Given the description of an element on the screen output the (x, y) to click on. 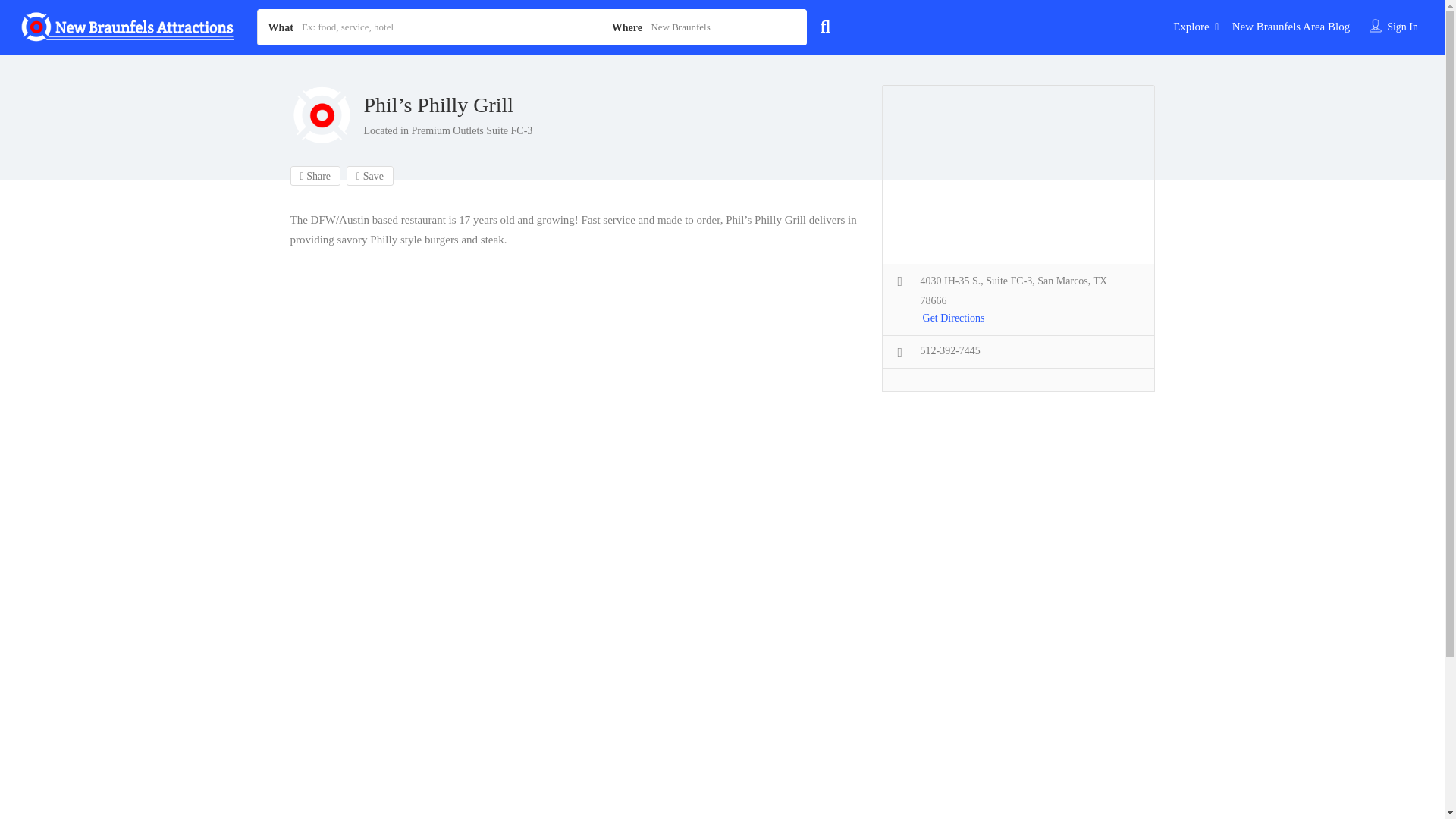
Sign In (1402, 26)
New Braunfels Area Blog (1290, 26)
Share (314, 175)
Advertisement (1018, 521)
Submit (413, 502)
512-392-7445 (949, 351)
Claim your business now! (584, 567)
New Braunfels (703, 27)
Get Directions (954, 319)
Explore (1190, 26)
Save (369, 175)
